Given the description of an element on the screen output the (x, y) to click on. 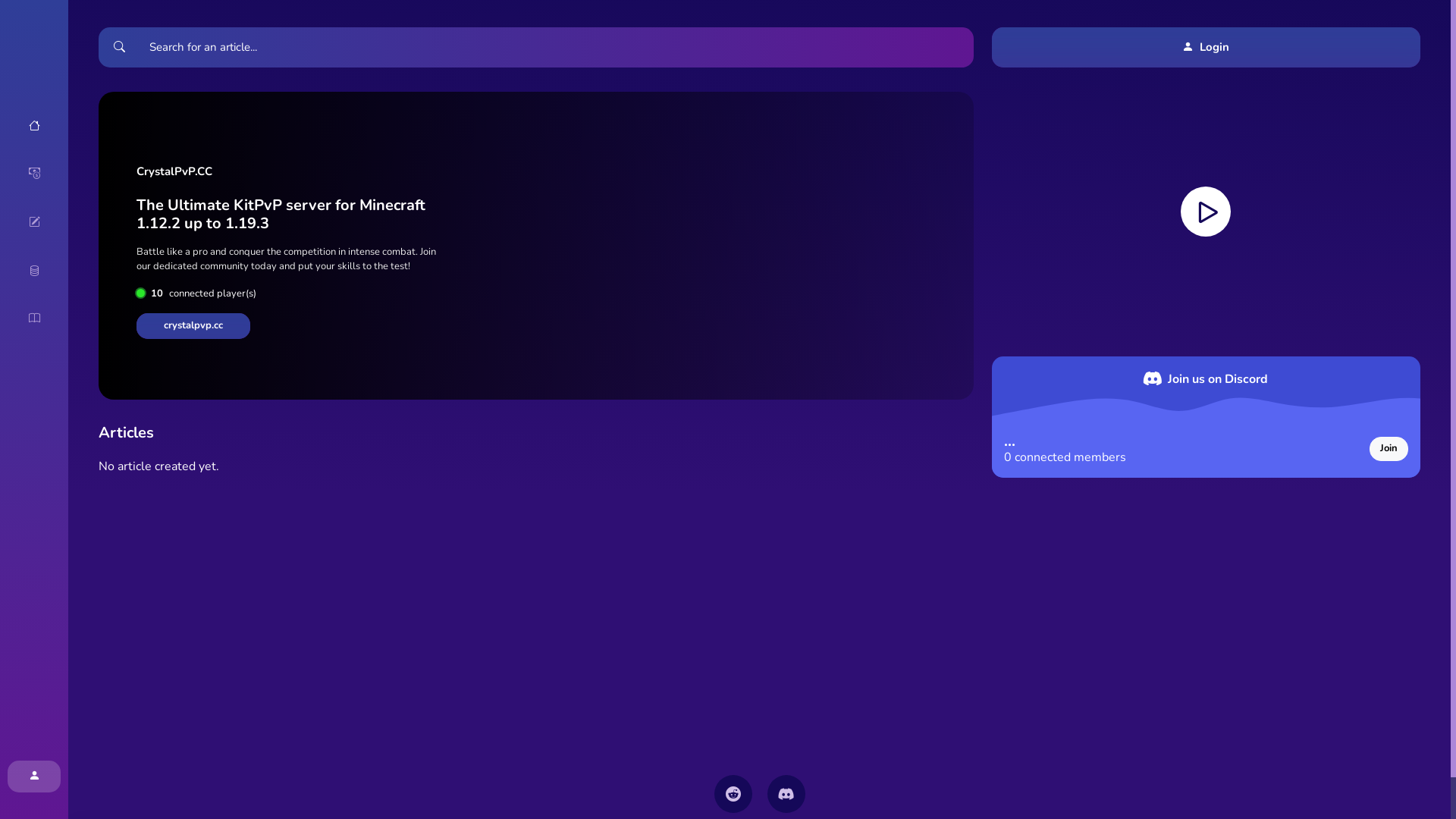
Join Element type: text (1388, 448)
crystalpvp.cc Element type: text (193, 325)
Login Element type: text (1205, 47)
